Given the description of an element on the screen output the (x, y) to click on. 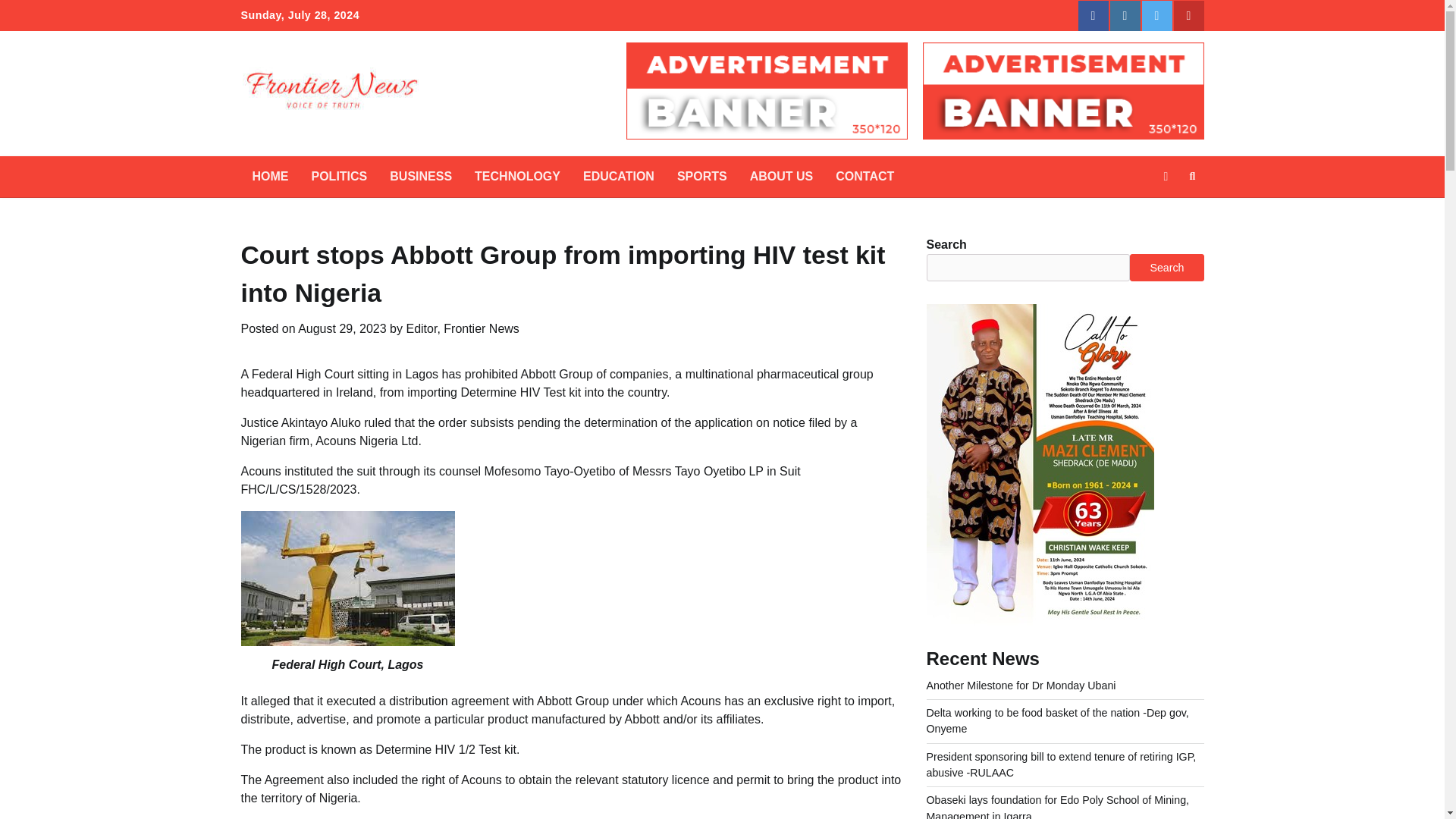
TECHNOLOGY (517, 176)
twitter (1156, 15)
View Random Post (1165, 176)
HOME (270, 176)
Editor, Frontier News (462, 328)
POLITICS (338, 176)
CONTACT (864, 176)
SPORTS (701, 176)
BUSINESS (420, 176)
youtube (1188, 15)
facebook (1093, 15)
August 29, 2023 (342, 328)
ABOUT US (781, 176)
Search (1164, 212)
EDUCATION (618, 176)
